Given the description of an element on the screen output the (x, y) to click on. 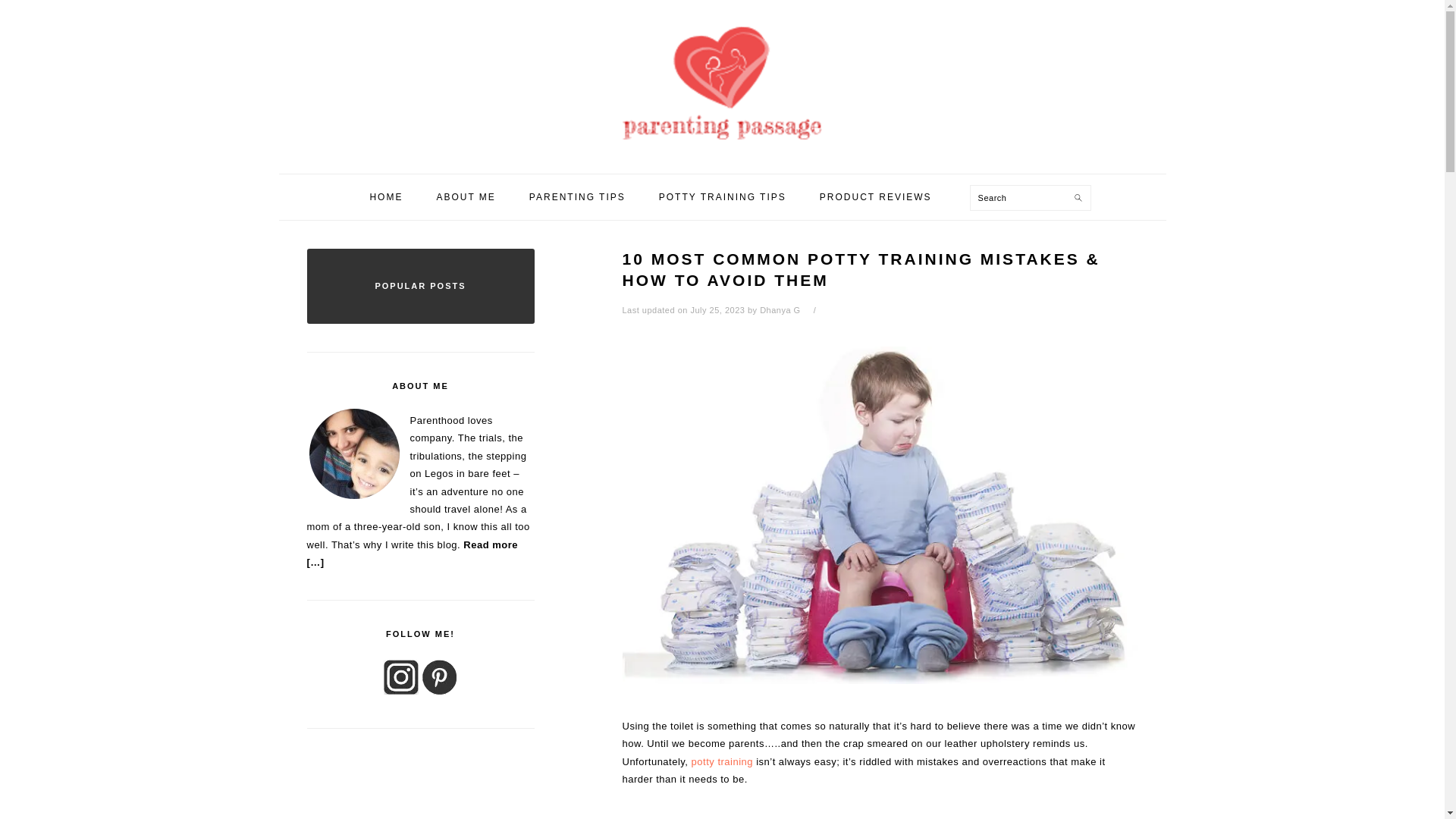
PARENTING PASSAGE (721, 82)
potty training (721, 761)
ABOUT ME (465, 196)
HOME (386, 196)
Dhanya G (780, 309)
PARENTING TIPS (577, 196)
PRODUCT REVIEWS (875, 196)
POTTY TRAINING TIPS (722, 196)
